Given the description of an element on the screen output the (x, y) to click on. 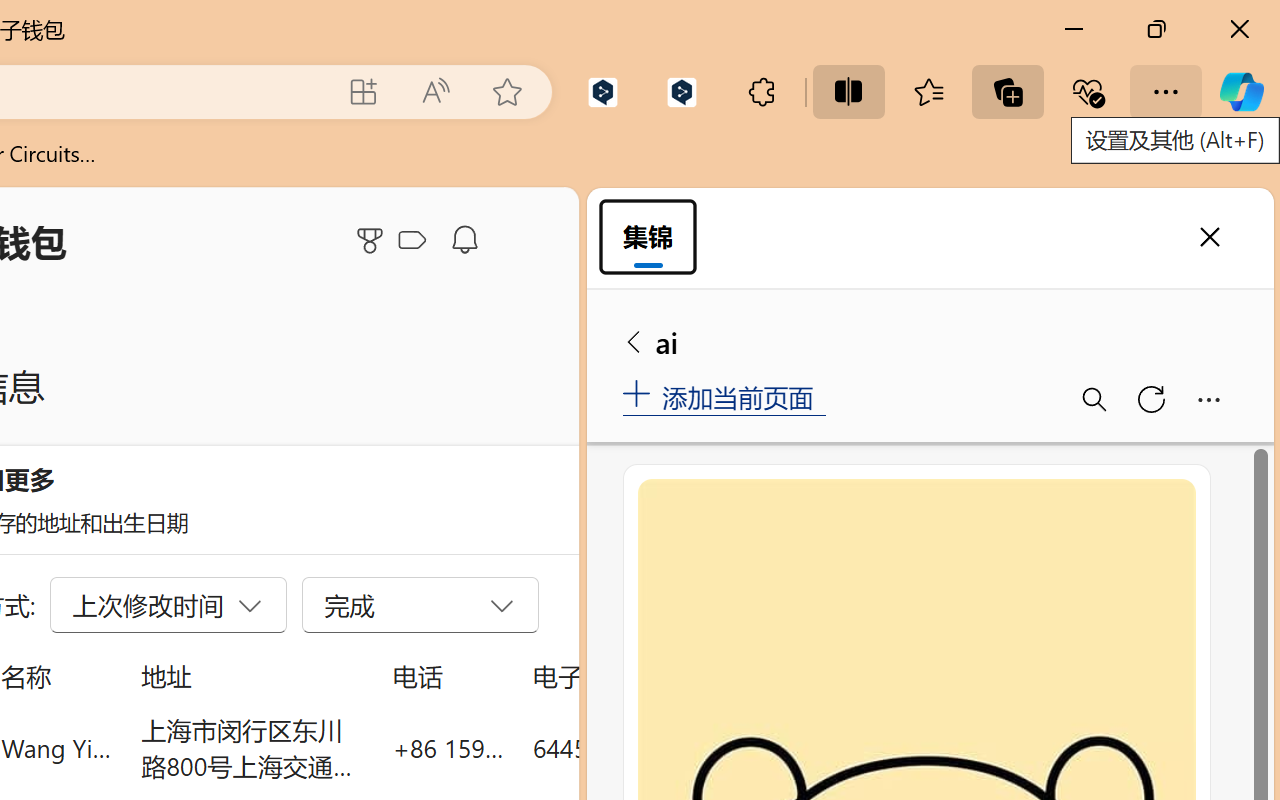
Microsoft Cashback (415, 241)
Copilot (Ctrl+Shift+.) (1241, 91)
